Given the description of an element on the screen output the (x, y) to click on. 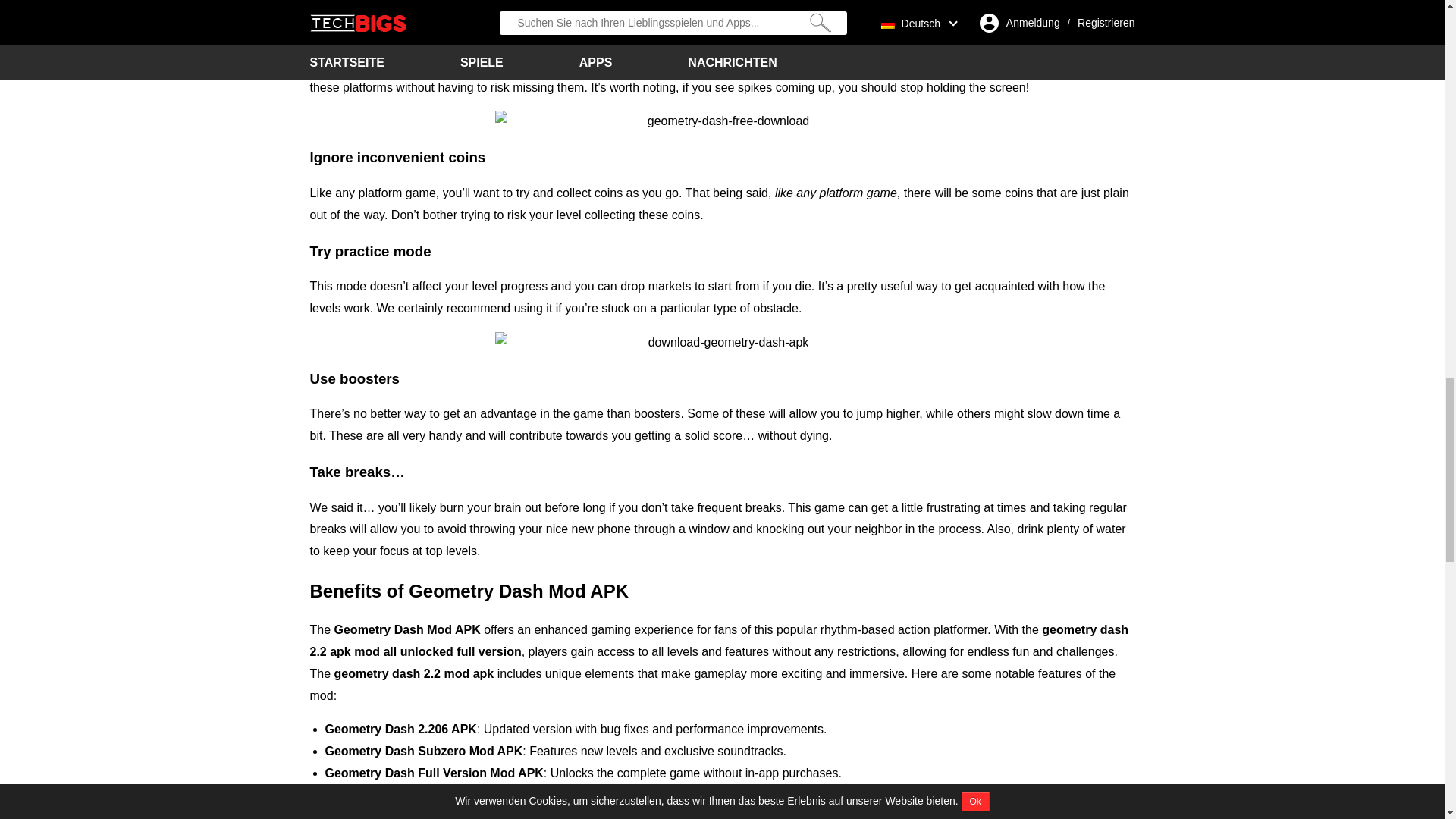
geometry-dash-free-download (722, 121)
download-geometry-dash-apk (722, 342)
